Given the description of an element on the screen output the (x, y) to click on. 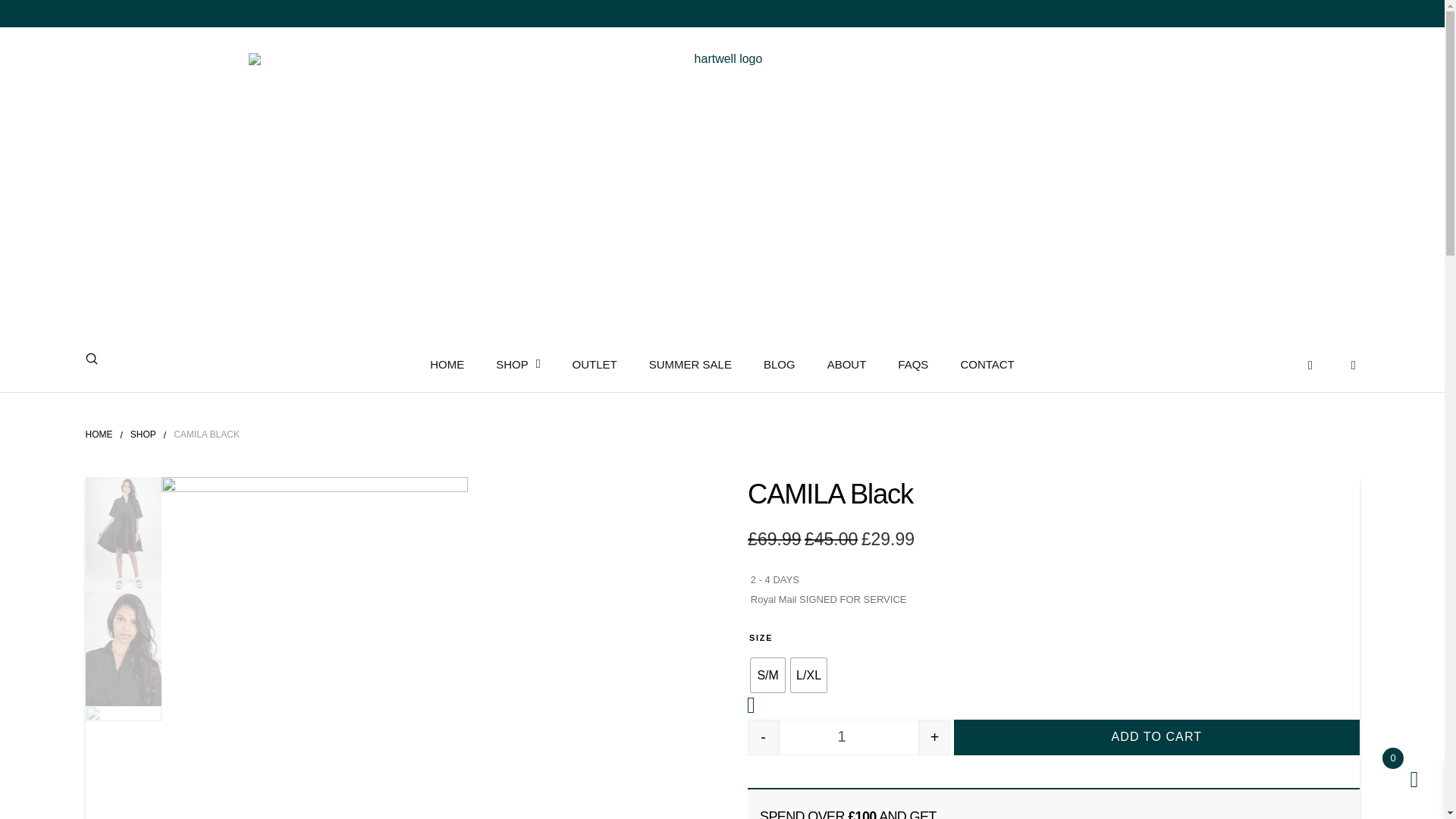
HOME (446, 367)
CONTACT (986, 367)
ABOUT (846, 367)
SHOP (518, 367)
SHOP (143, 435)
BLOG (779, 367)
Camila Black 2 (123, 762)
Camila Black (123, 533)
You Are Here (206, 435)
ADD TO CART (1155, 737)
SUMMER SALE (690, 367)
- (763, 737)
Submit (90, 358)
HOME (98, 435)
1 (848, 737)
